Given the description of an element on the screen output the (x, y) to click on. 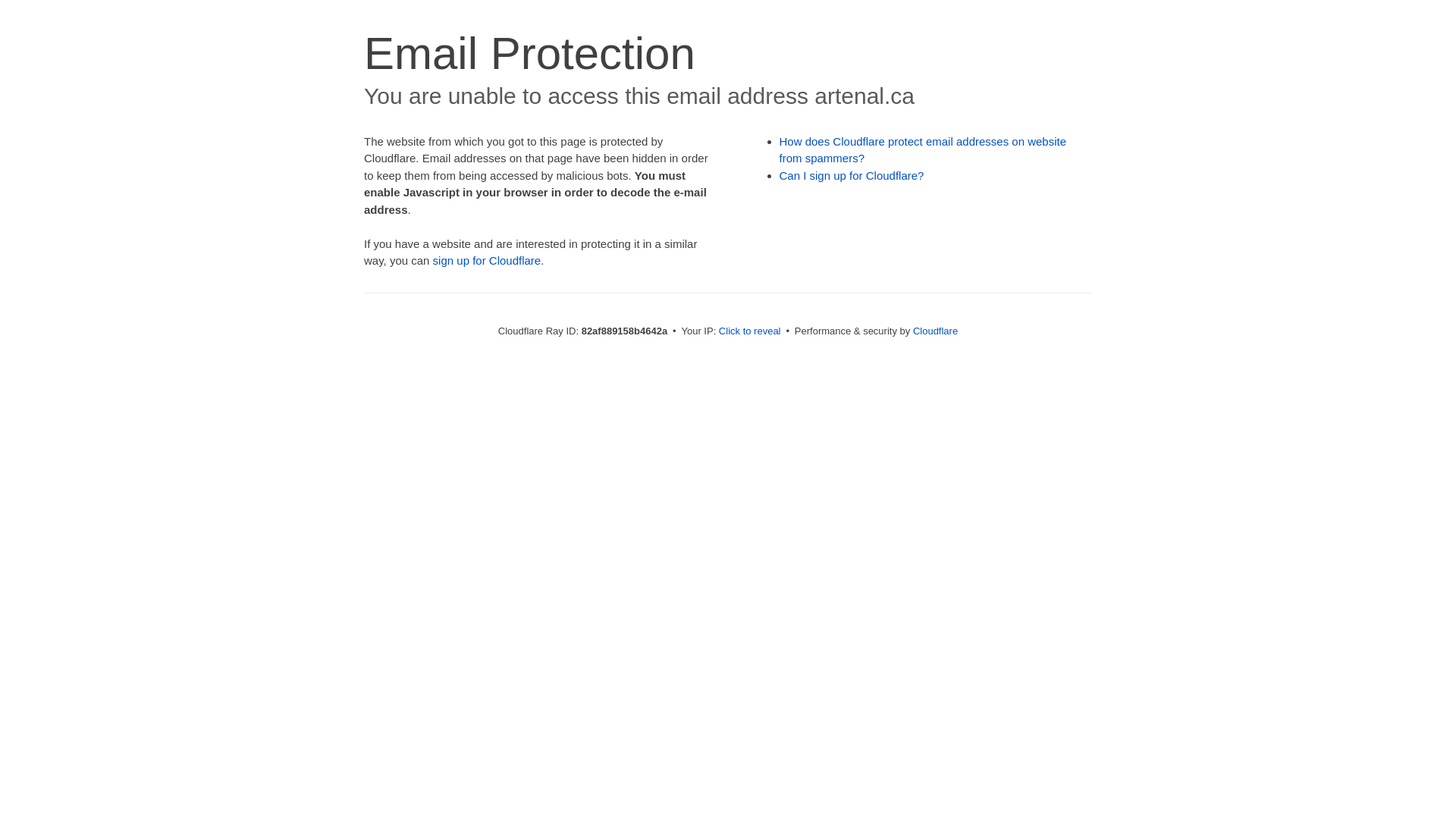
sign up for Cloudflare Element type: text (487, 260)
Cloudflare Element type: text (935, 330)
Can I sign up for Cloudflare? Element type: text (851, 175)
Click to reveal Element type: text (749, 330)
